Given the description of an element on the screen output the (x, y) to click on. 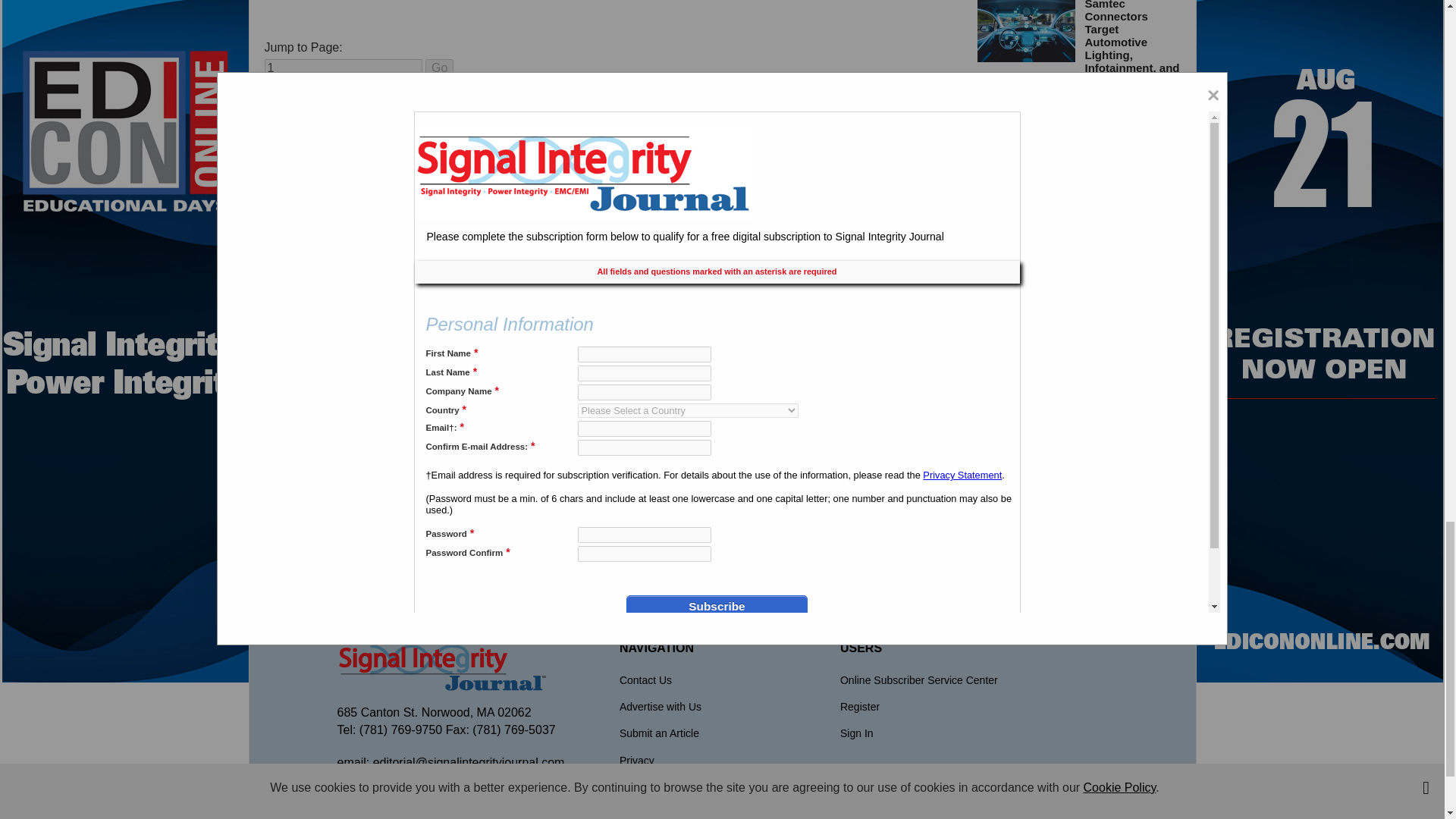
Alliance Memory 7-10-24.jpg (1025, 374)
Go (438, 67)
3rd party ad content (721, 549)
Waves 600x400 2-27-23.jpg (1025, 140)
1 (342, 67)
Samtec 7-17-24.jpg (1025, 31)
Mobix 7-9-24.jpg (1025, 283)
